Given the description of an element on the screen output the (x, y) to click on. 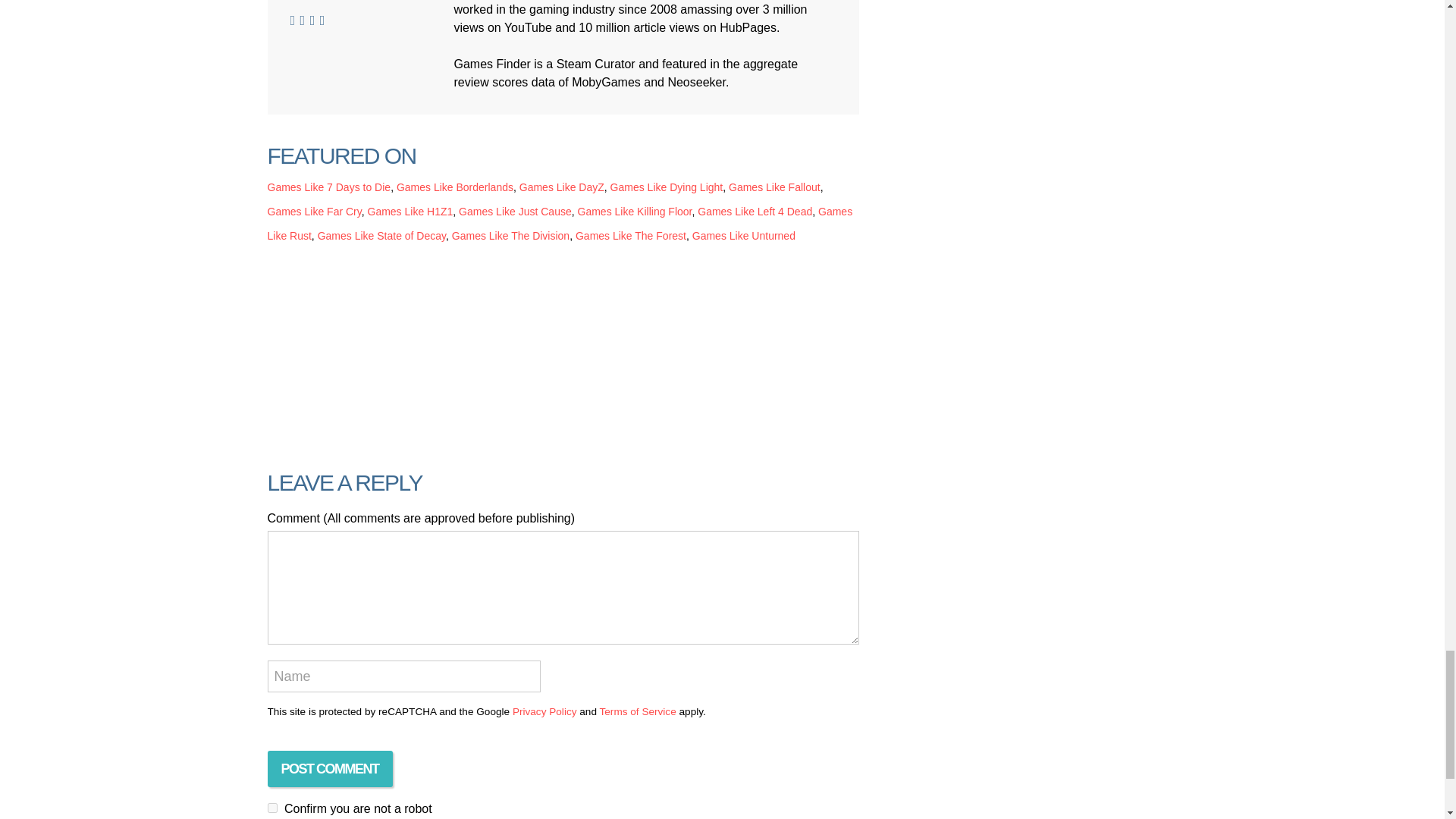
Terms of Service (636, 711)
Games Like Unturned (743, 235)
on (271, 808)
Games Like Borderlands (454, 186)
Post Comment (328, 769)
Post Comment (328, 769)
Games Like Just Cause (515, 211)
Privacy Policy (544, 711)
Games Like Fallout (775, 186)
Games Like The Division (510, 235)
Games Like H1Z1 (409, 211)
Games Like 7 Days to Die (328, 186)
Games Like Rust (558, 223)
Games Like Killing Floor (635, 211)
Games Like Dying Light (666, 186)
